Given the description of an element on the screen output the (x, y) to click on. 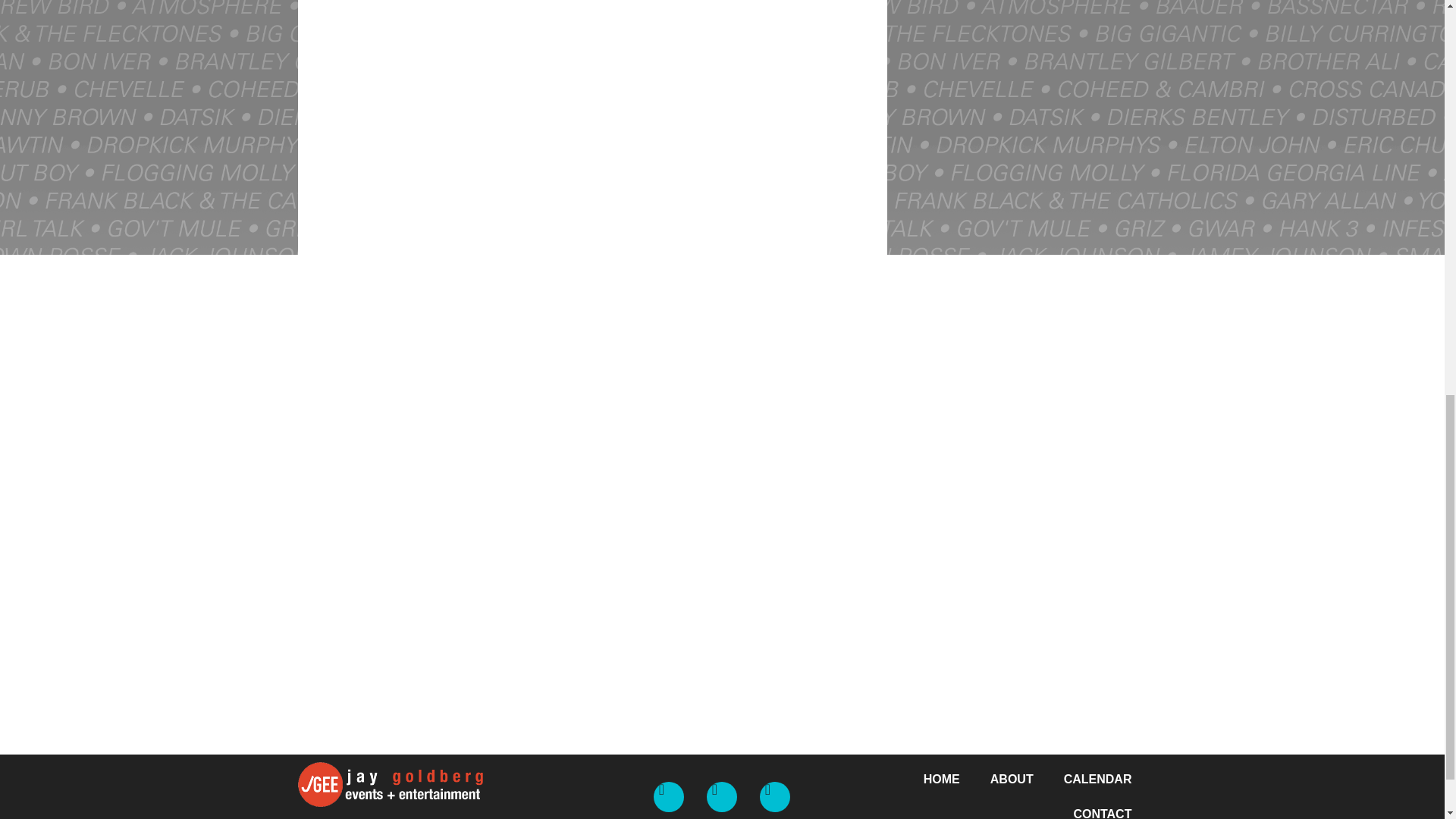
HOME (941, 779)
CALENDAR (1097, 779)
ABOUT (1011, 779)
CONTACT (1102, 807)
